Given the description of an element on the screen output the (x, y) to click on. 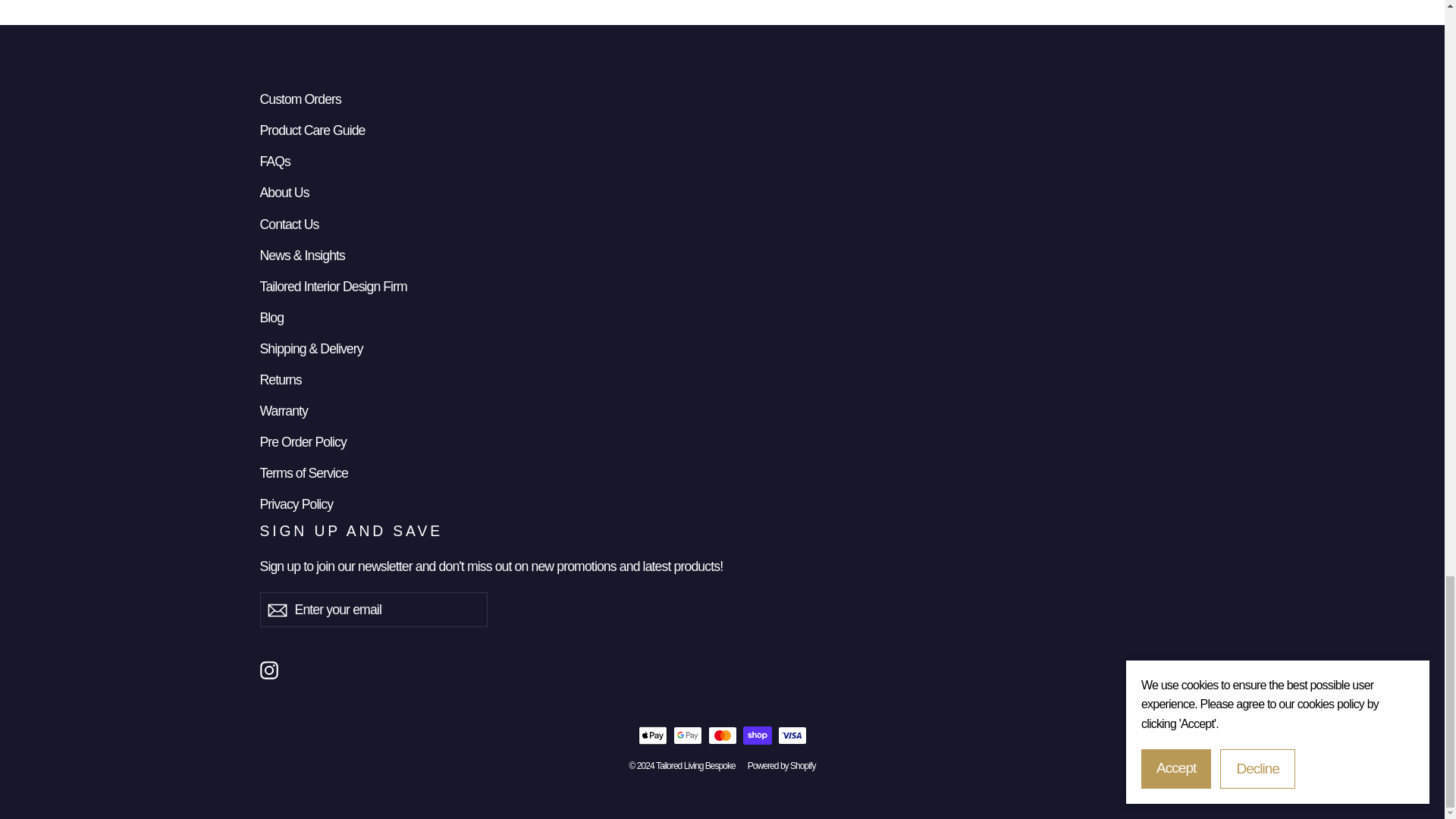
Google Pay (686, 735)
Tailored Living Bespoke on Instagram (268, 669)
Shop Pay (756, 735)
Visa (791, 735)
icon-email (276, 610)
Mastercard (721, 735)
Apple Pay (652, 735)
instagram (268, 669)
